Given the description of an element on the screen output the (x, y) to click on. 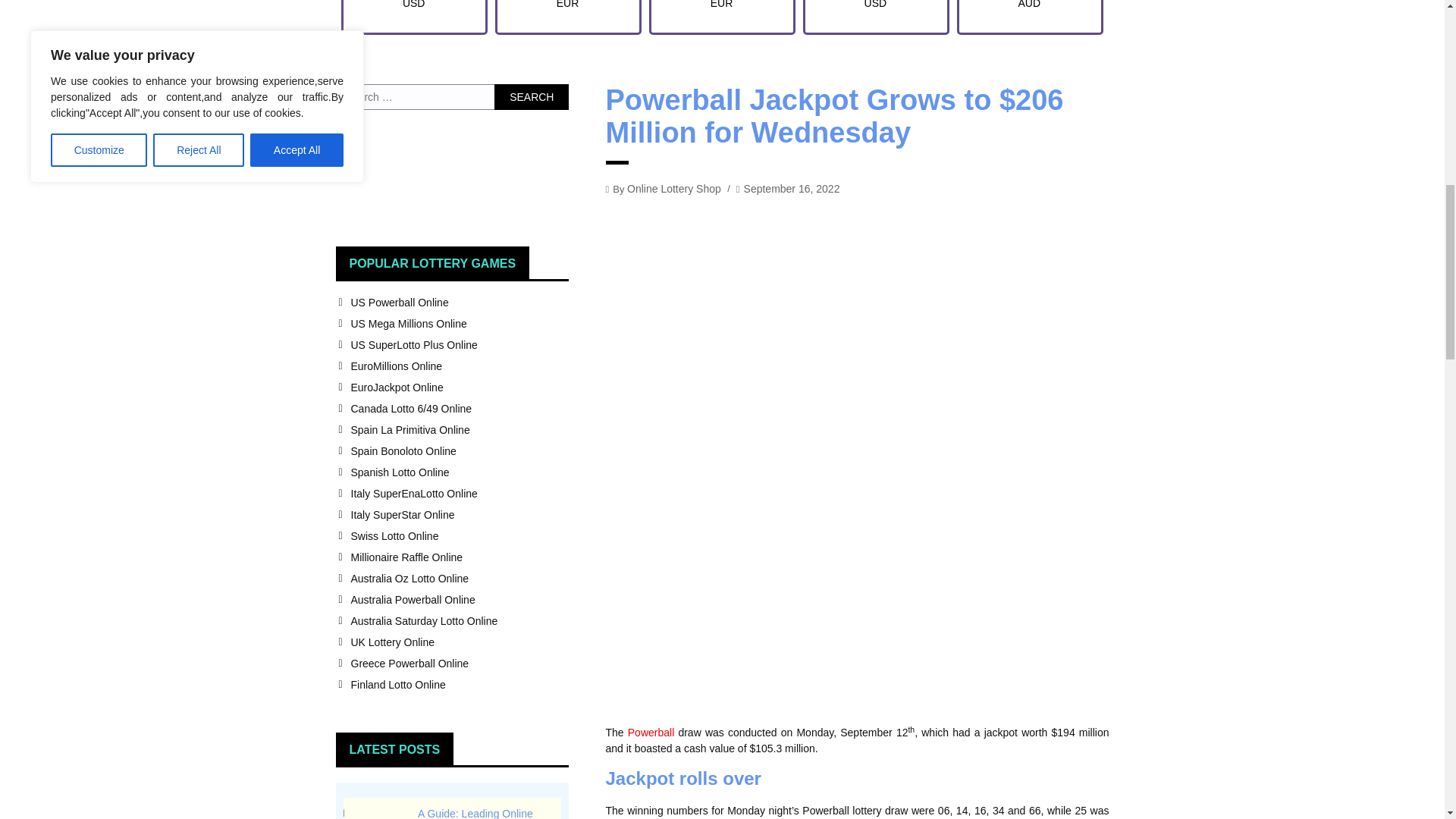
Search (532, 96)
powerball (650, 732)
Search (532, 96)
